Given the description of an element on the screen output the (x, y) to click on. 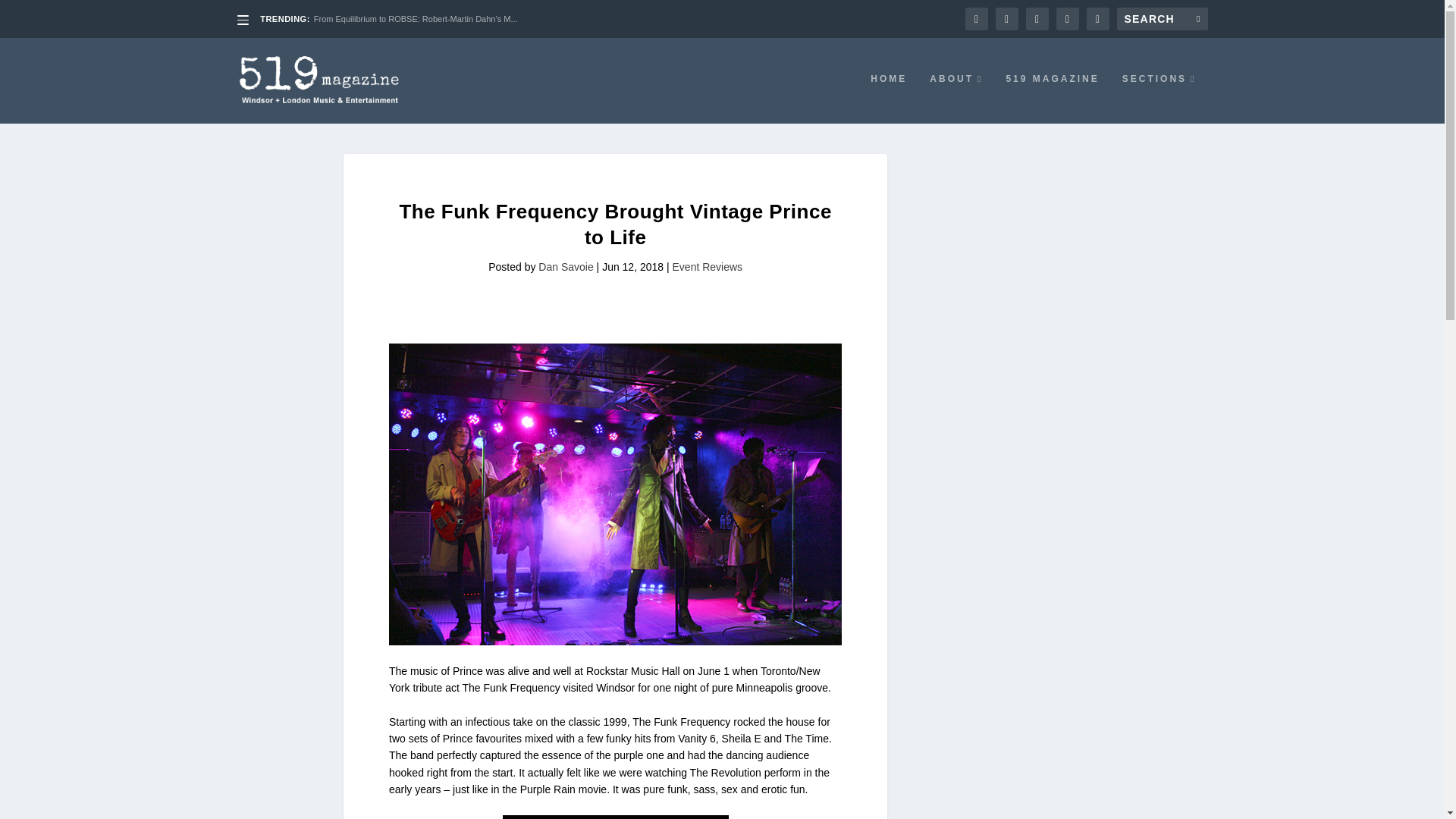
SECTIONS (1159, 97)
Dan Savoie (565, 266)
Event Reviews (707, 266)
Posts by Dan Savoie (565, 266)
ABOUT (956, 97)
519 MAGAZINE (1052, 97)
Search for: (1161, 18)
